Given the description of an element on the screen output the (x, y) to click on. 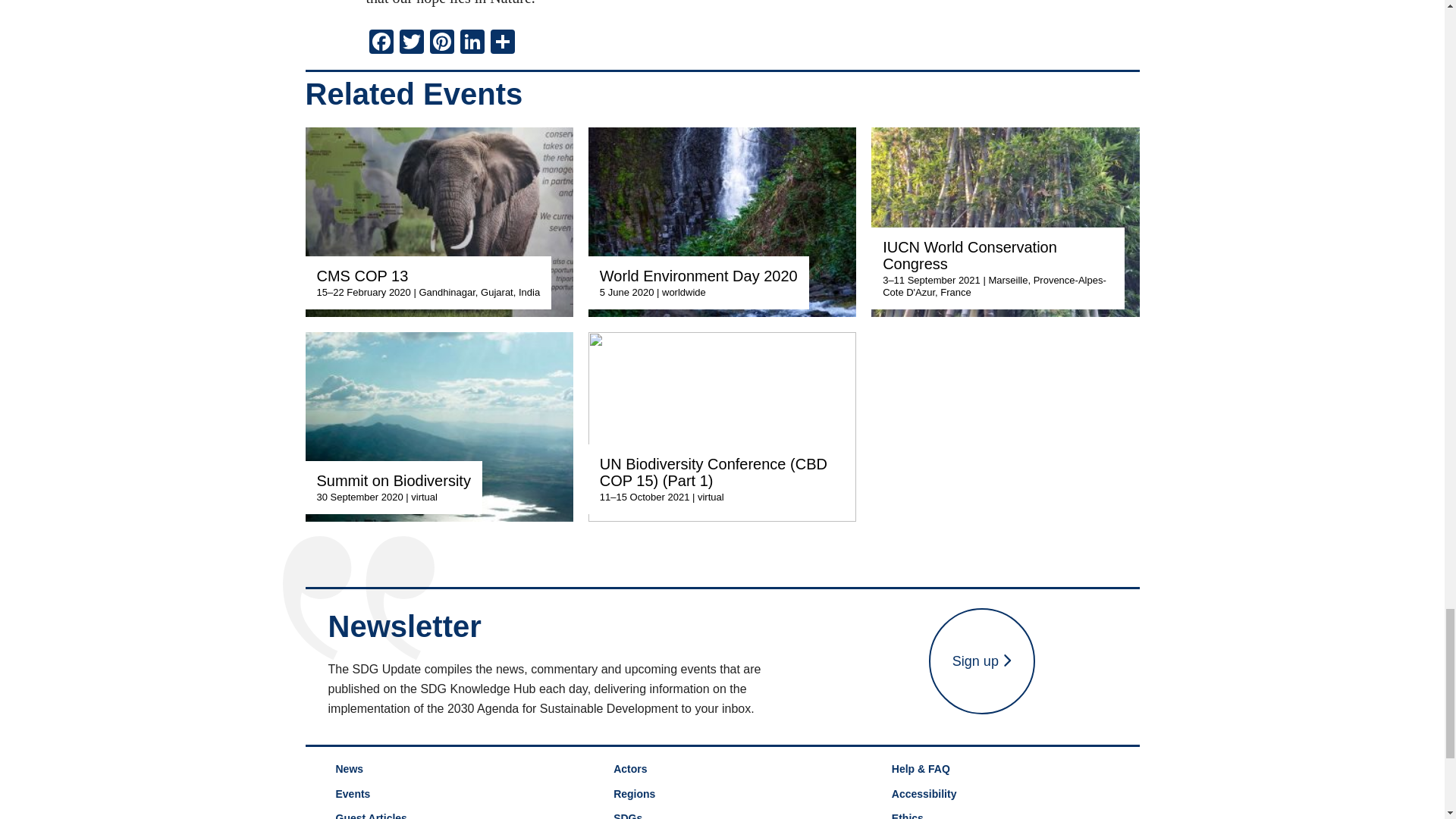
Twitter (411, 43)
LinkedIn (471, 43)
Twitter (411, 43)
Facebook (380, 43)
Facebook (380, 43)
Pinterest (441, 43)
